Given the description of an element on the screen output the (x, y) to click on. 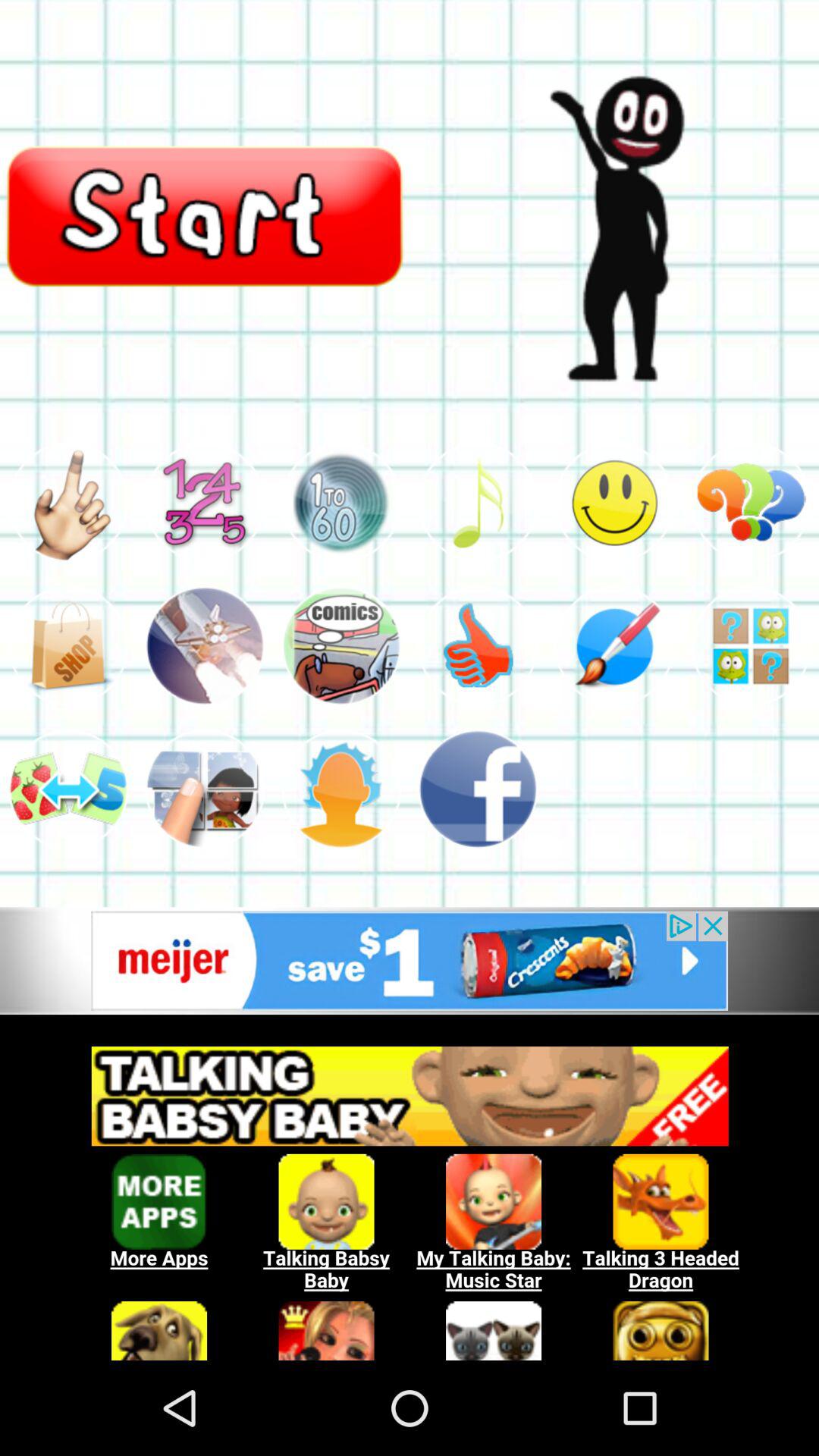
open app (204, 645)
